Given the description of an element on the screen output the (x, y) to click on. 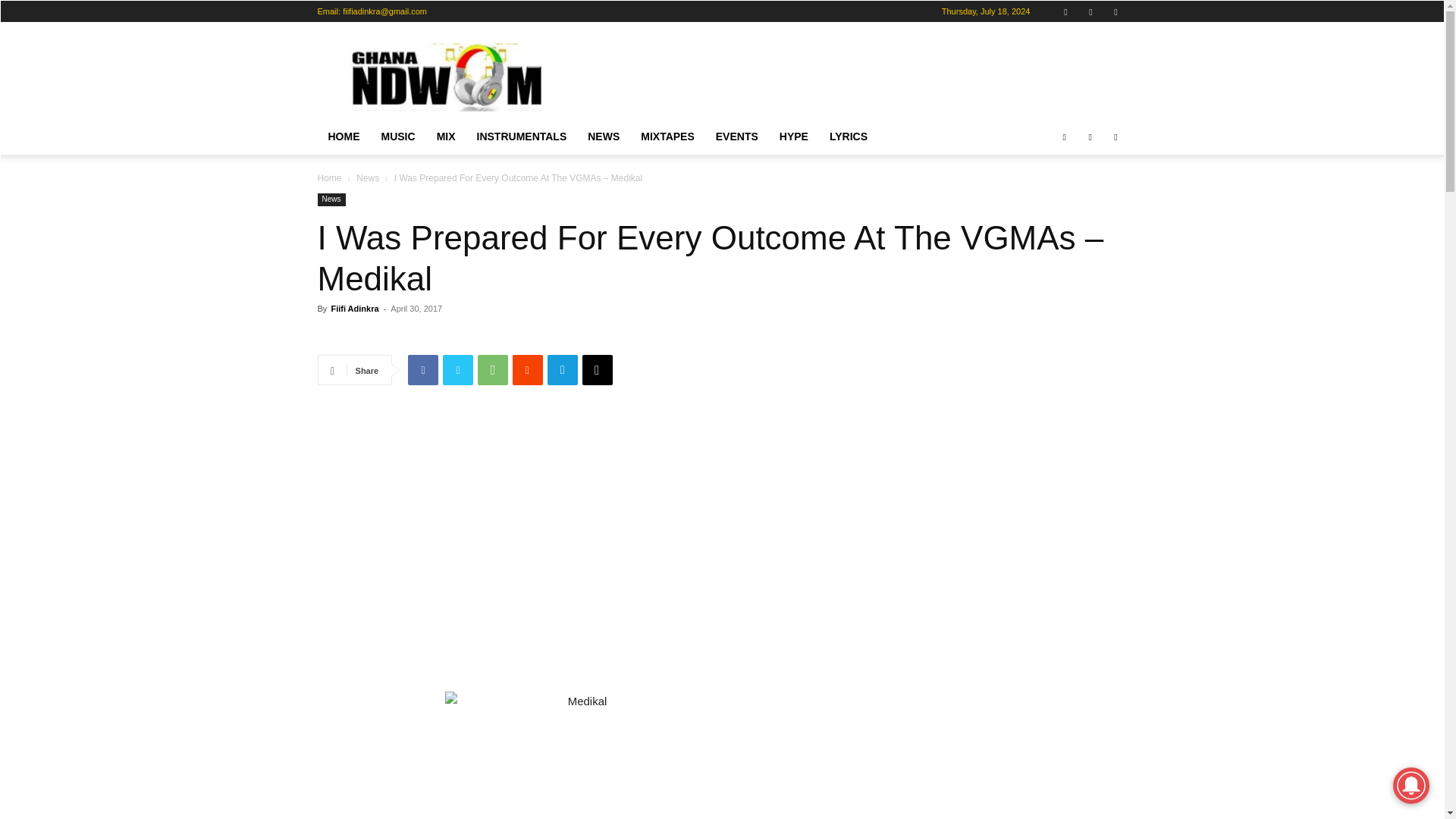
News (367, 177)
Facebook (1063, 135)
WhatsApp (492, 369)
News (331, 199)
Twitter (457, 369)
EVENTS (736, 135)
Fiifi Adinkra (354, 307)
MUSIC (397, 135)
Twitter (1114, 11)
INSTRUMENTALS (521, 135)
Home (328, 177)
Mail (1090, 11)
